Given the description of an element on the screen output the (x, y) to click on. 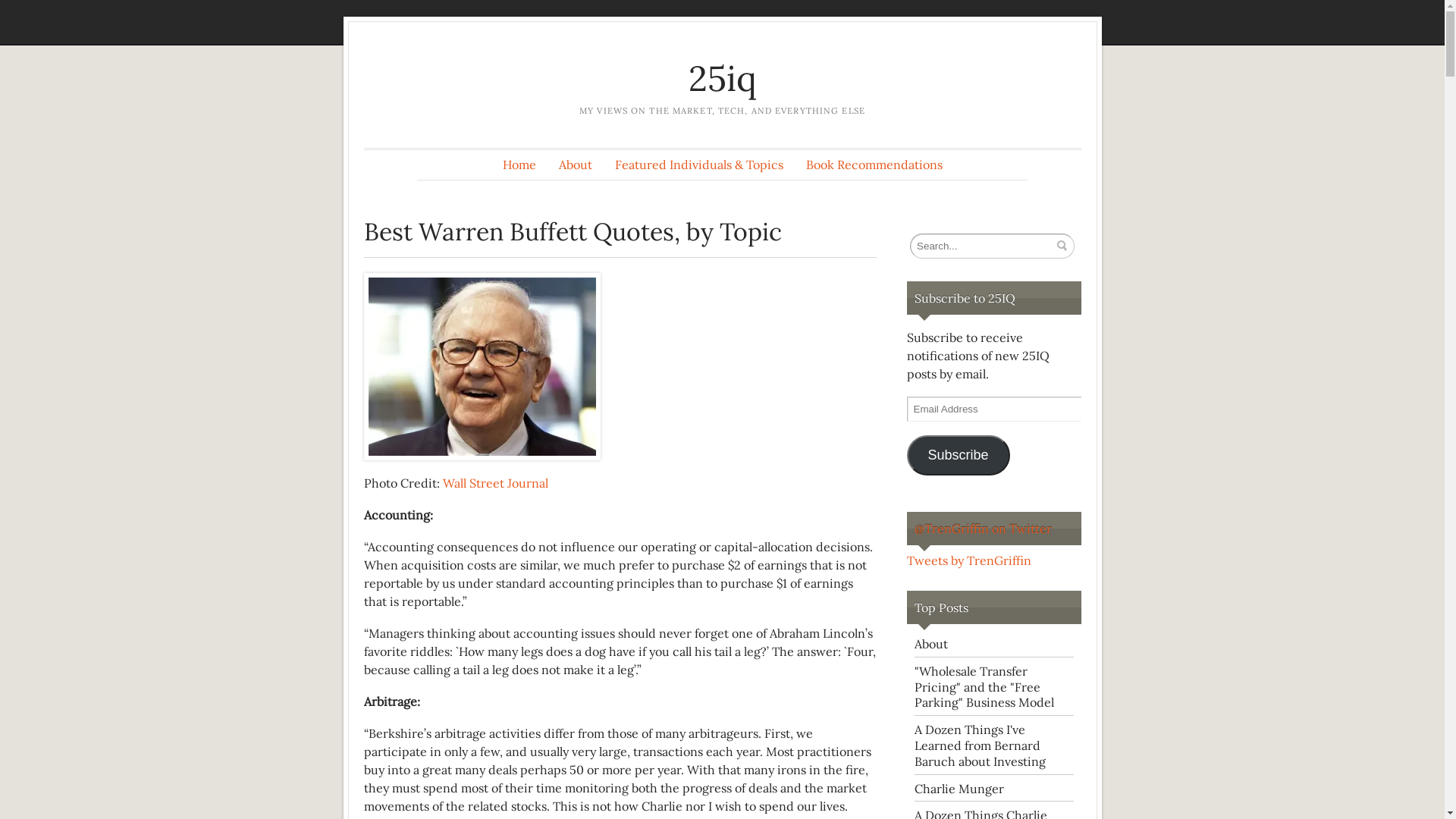
About Element type: text (930, 643)
Featured Individuals & Topics Element type: text (699, 164)
Wall Street Journal Element type: text (495, 482)
25iq Element type: text (722, 78)
Book Recommendations Element type: text (874, 164)
Tweets by TrenGriffin Element type: text (968, 559)
resizetofit Element type: hover (482, 366)
Subscribe Element type: text (958, 455)
@TrenGriffin on Twitter Element type: text (982, 528)
Charlie Munger Element type: text (959, 788)
About Element type: text (575, 164)
Home Element type: text (519, 164)
